Given the description of an element on the screen output the (x, y) to click on. 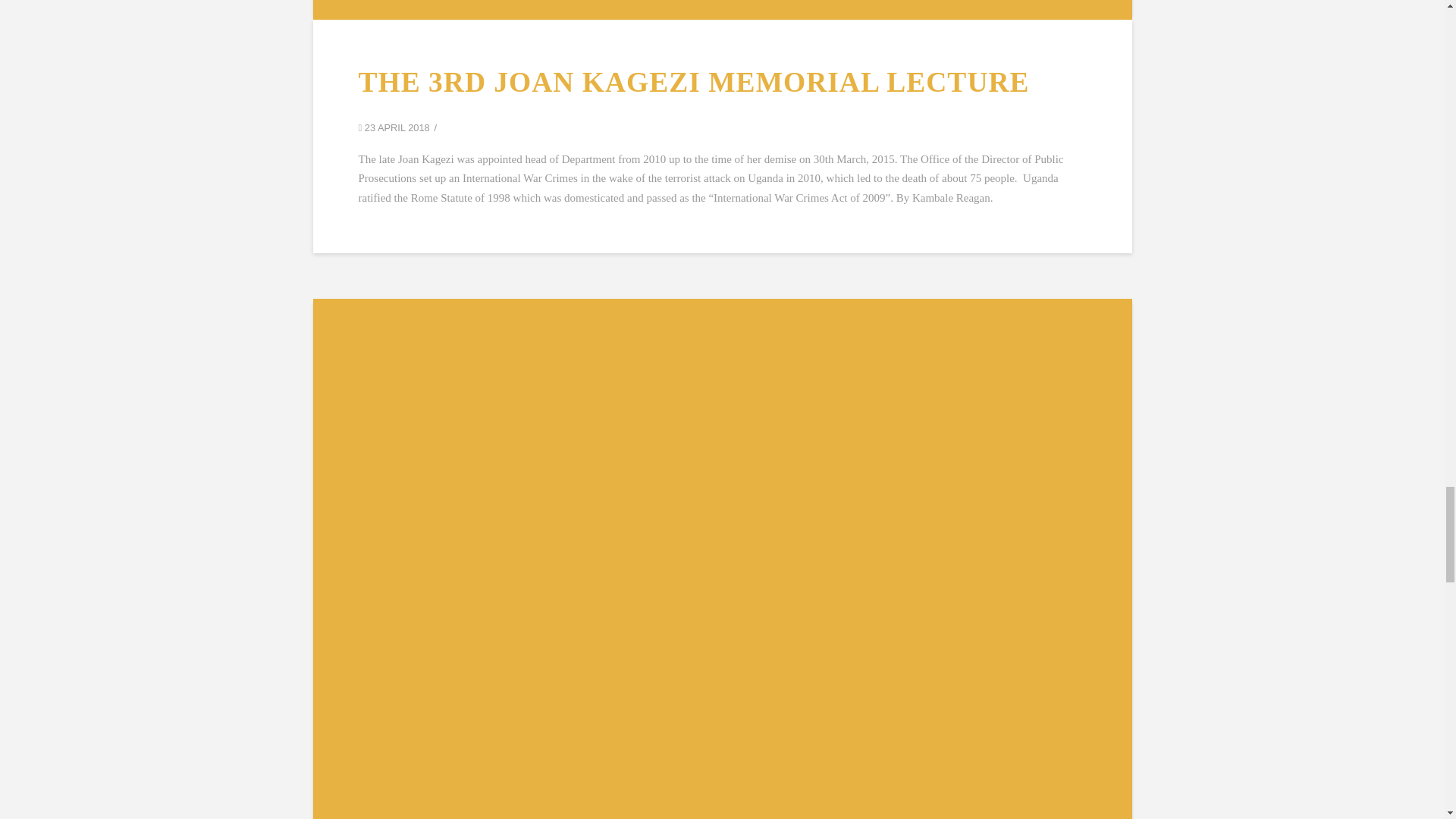
Permalink to: "The 3rd Joan Kagezi memorial lecture" (722, 9)
Permalink to: "The 3rd Joan Kagezi memorial lecture" (693, 81)
